Given the description of an element on the screen output the (x, y) to click on. 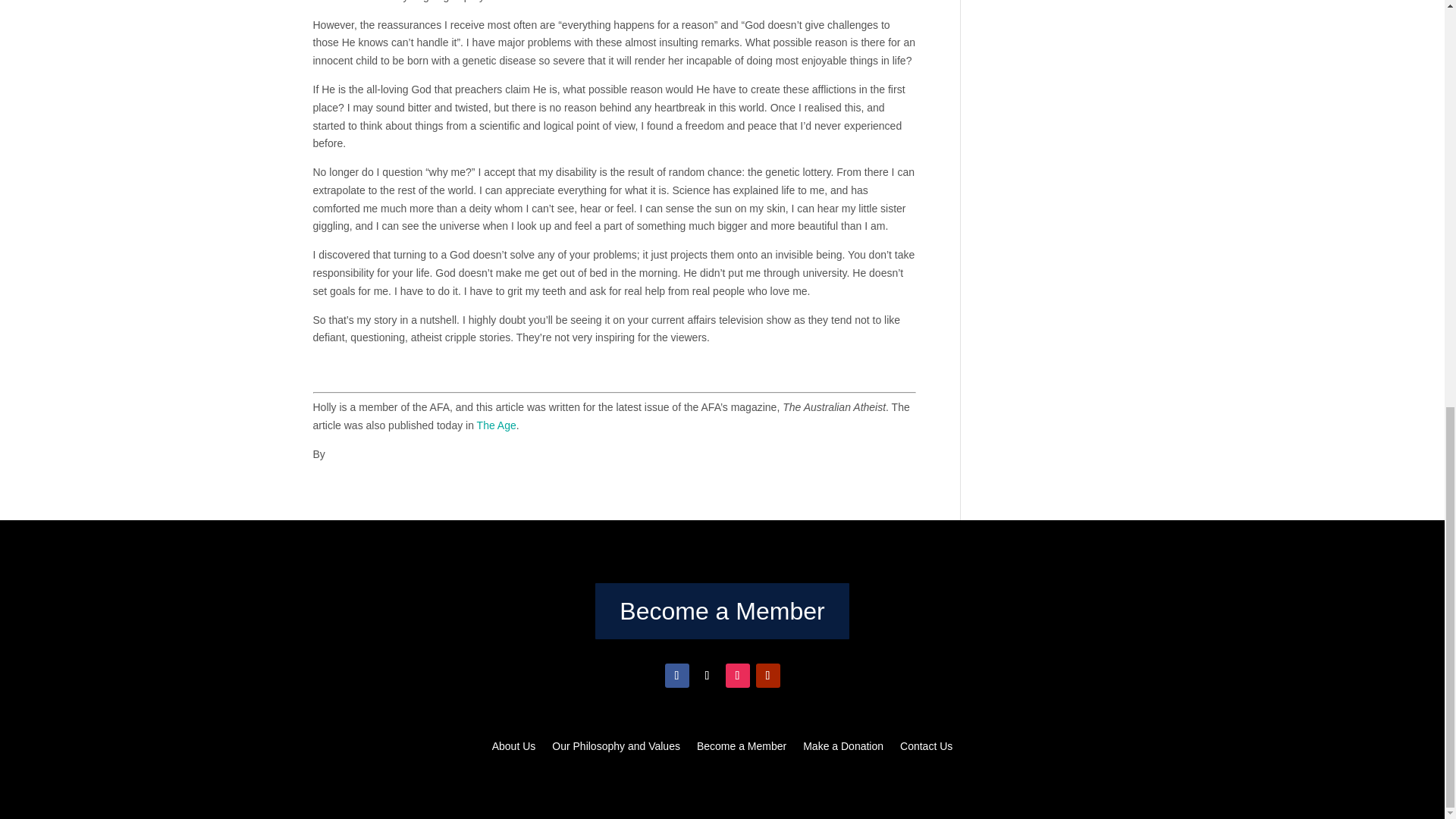
The Age (496, 425)
Follow on X (706, 675)
Follow on Facebook (675, 675)
Become a Member (722, 610)
Follow on Instagram (737, 675)
Follow on Youtube (766, 675)
